Given the description of an element on the screen output the (x, y) to click on. 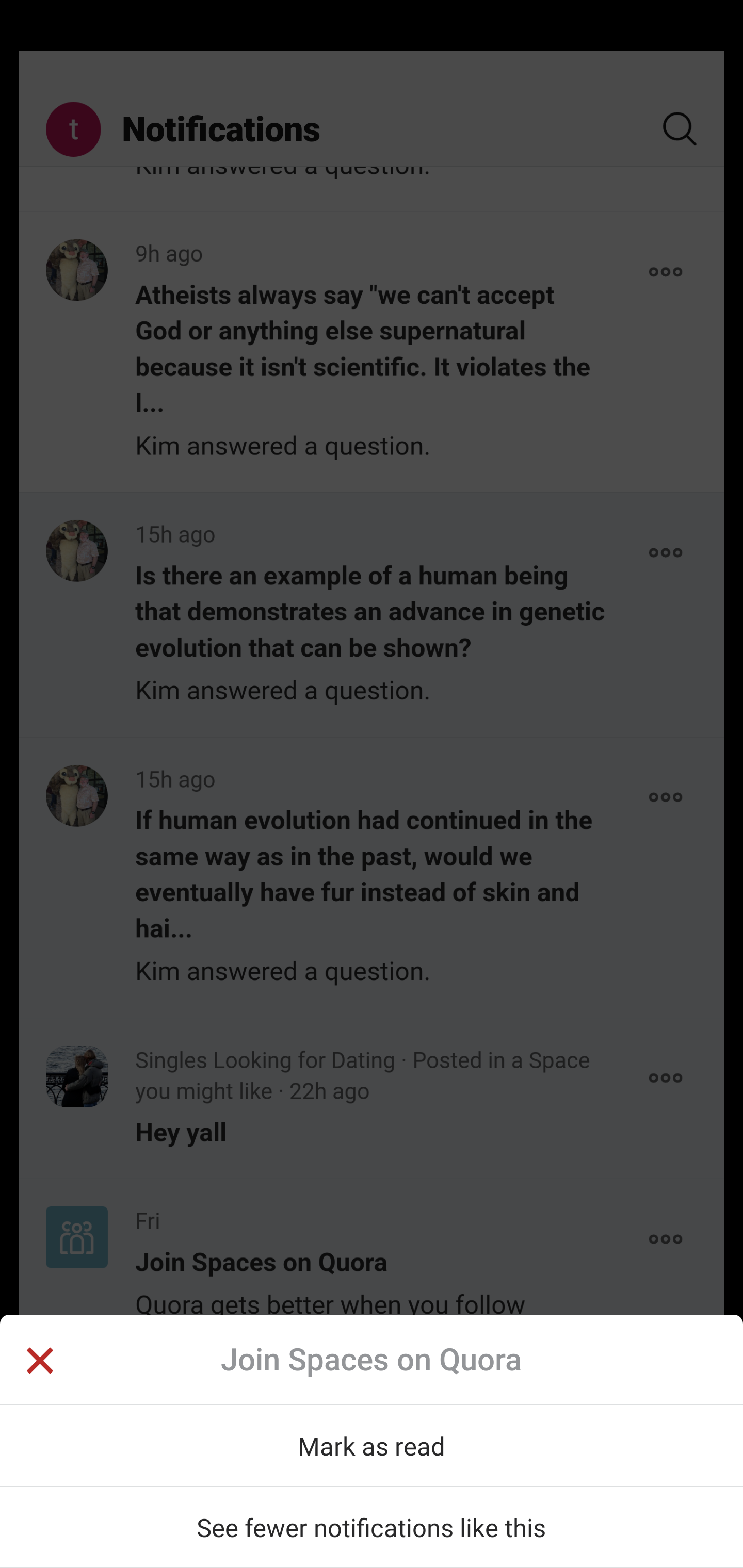
 Join Spaces on Quora (371, 1358)
 (39, 1362)
Mark as read (371, 1445)
See fewer notifications like this (371, 1527)
